Given the description of an element on the screen output the (x, y) to click on. 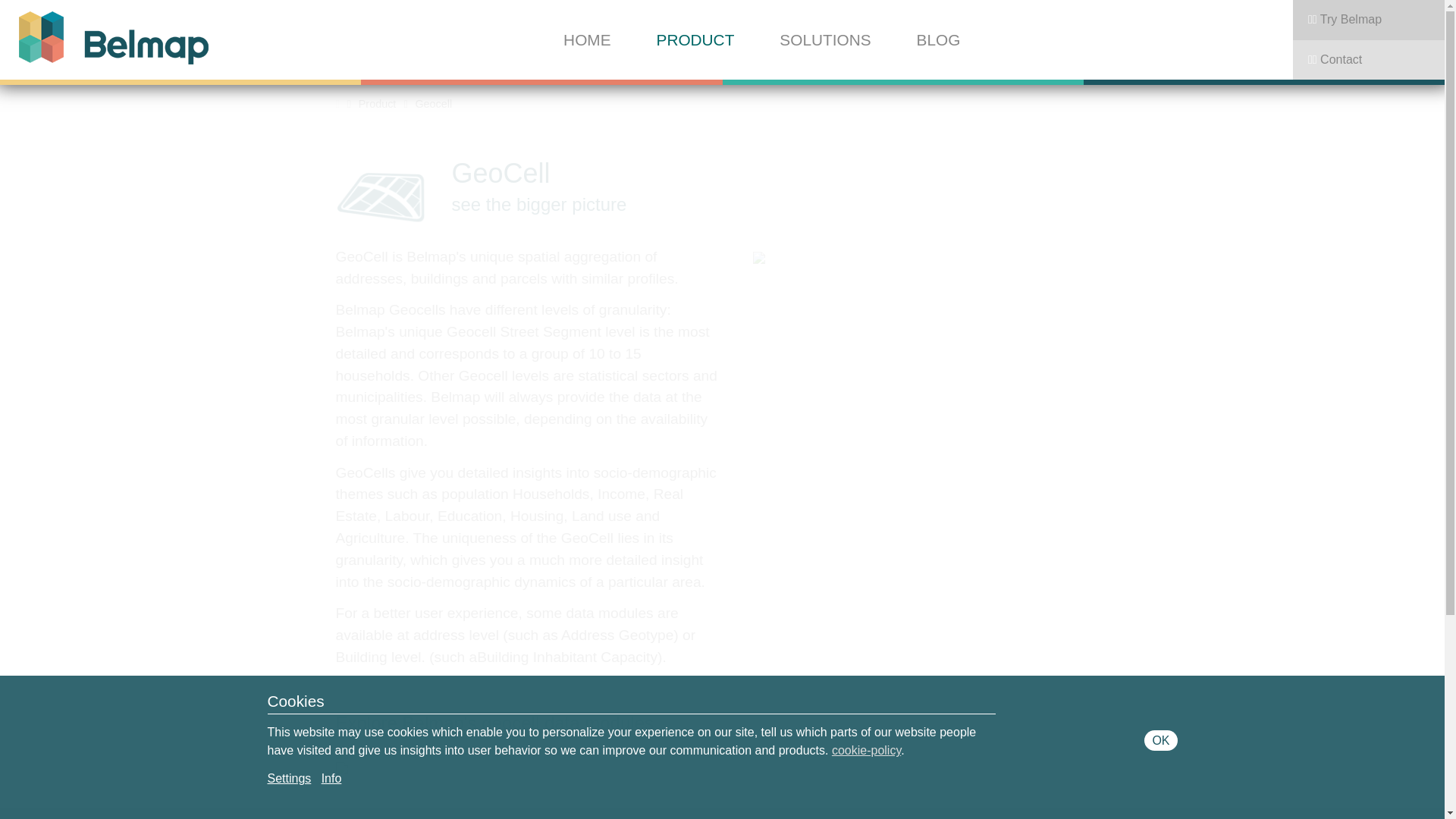
Try Belmap Element type: text (1368, 20)
cookie-policy Element type: text (865, 749)
HOME Element type: text (586, 39)
PRODUCT Element type: text (695, 39)
Product Element type: text (371, 103)
BLOG Element type: text (938, 39)
OK Element type: text (1160, 740)
Geocell Element type: text (427, 103)
Contact Element type: text (1368, 59)
SOLUTIONS Element type: text (824, 39)
